Given the description of an element on the screen output the (x, y) to click on. 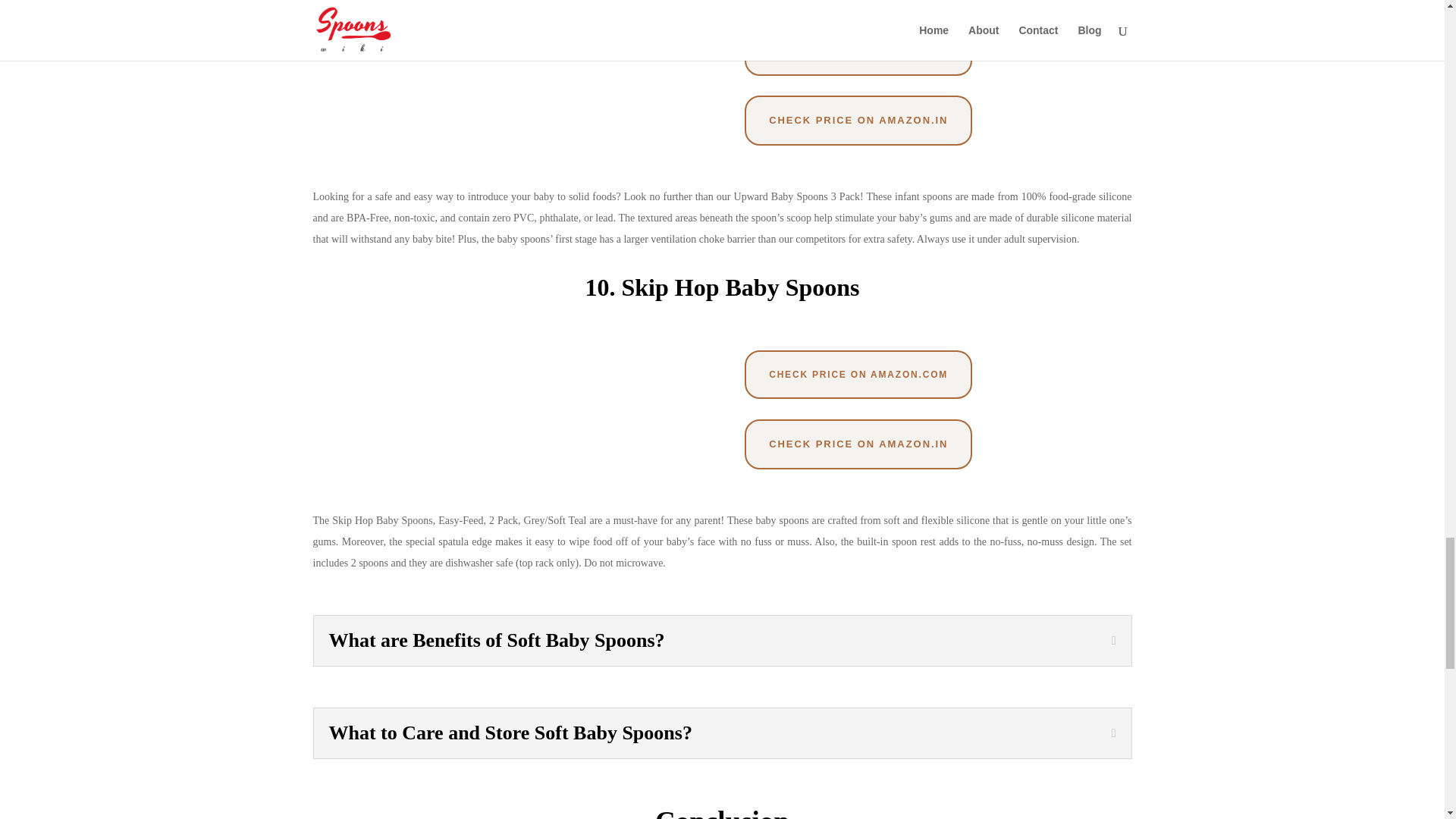
CHECK PRICE ON AMAZON.IN (858, 444)
CHECK PRICE ON AMAZON.IN (858, 120)
CHECK PRICE ON AMAZON.COM (858, 50)
CHECK PRICE ON AMAZON.COM (858, 374)
